Given the description of an element on the screen output the (x, y) to click on. 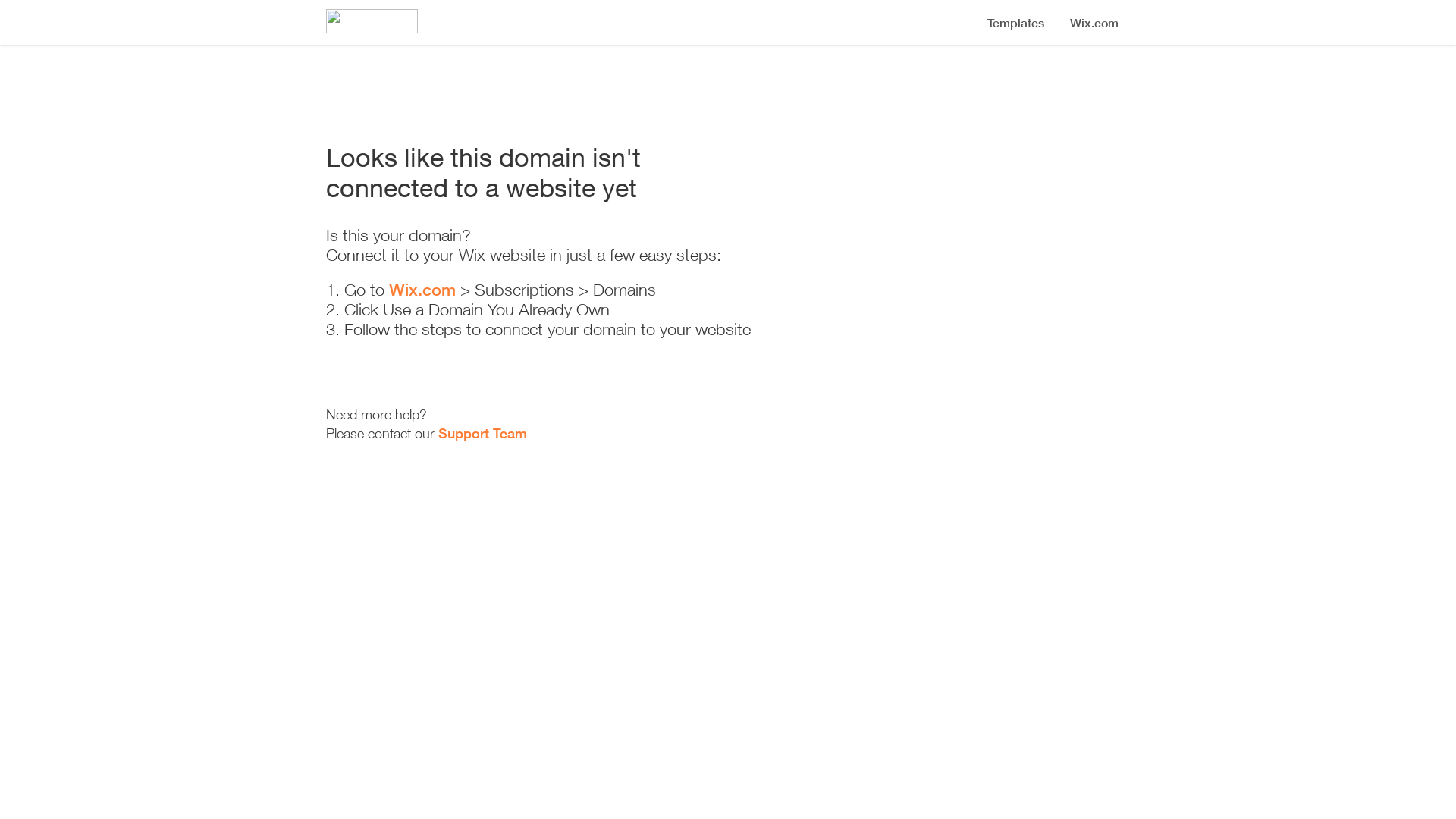
Support Team Element type: text (482, 432)
Wix.com Element type: text (422, 289)
